Given the description of an element on the screen output the (x, y) to click on. 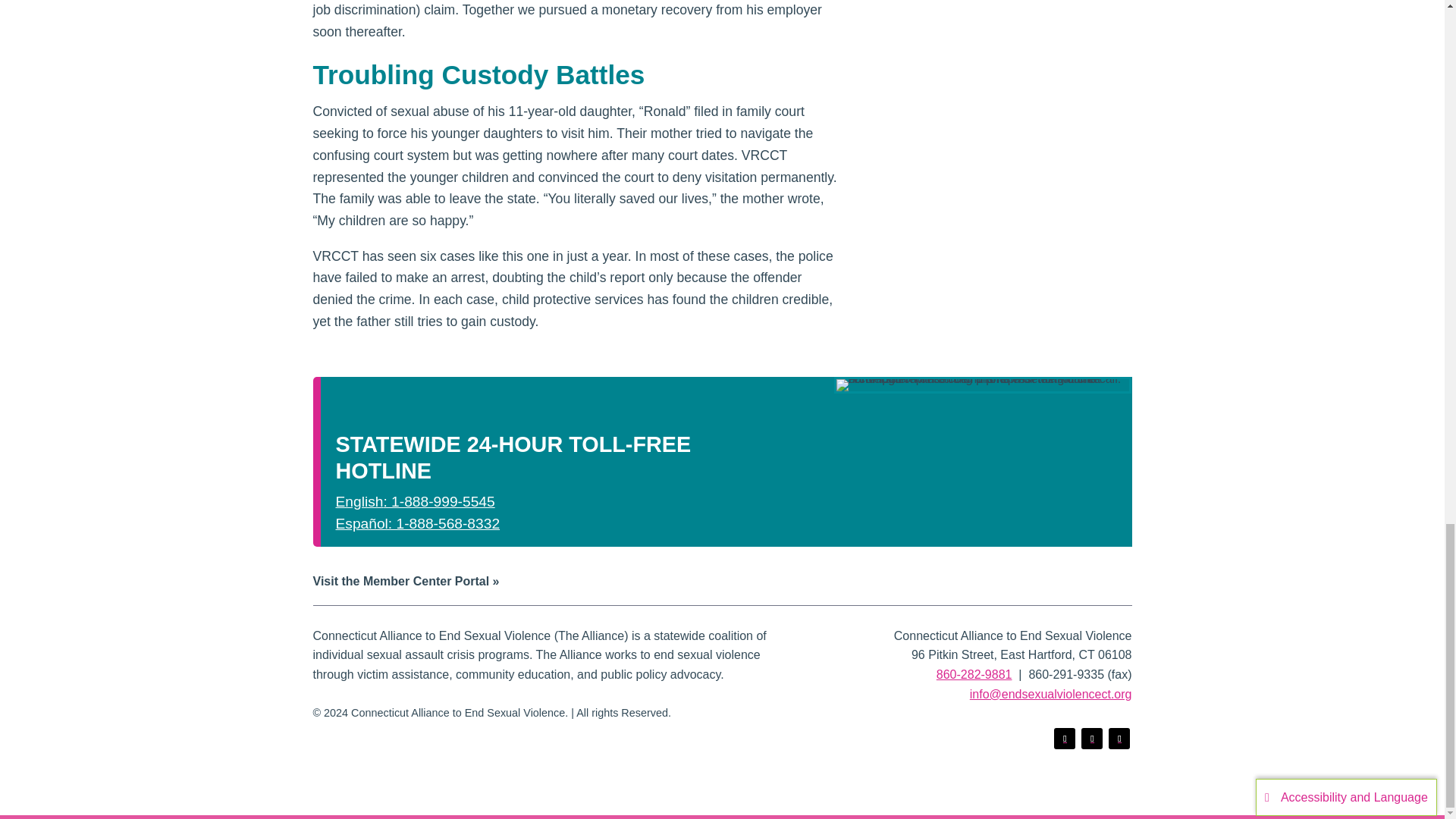
Follow on Instagram (1118, 738)
Follow on Facebook (1064, 738)
Follow on LinkedIn (1091, 738)
Phone, Text and Chat Hotline (982, 385)
